Given the description of an element on the screen output the (x, y) to click on. 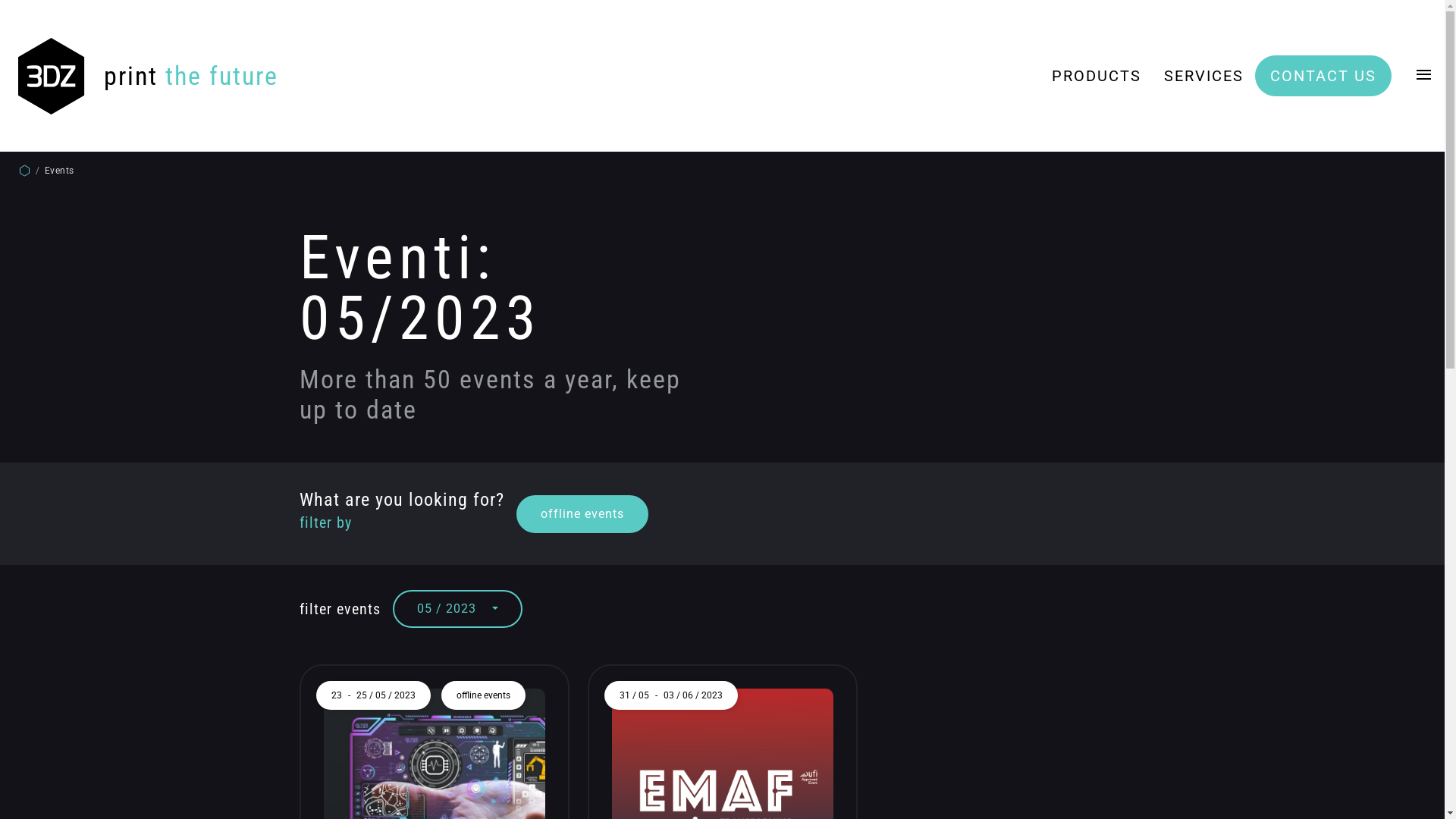
Homepage Element type: hover (24, 170)
SERVICES Element type: text (1203, 75)
05 / 2023 Element type: text (457, 608)
offline events Element type: text (581, 513)
print the future Element type: text (148, 75)
CONTACT US Element type: text (1322, 75)
PRODUCTS Element type: text (1096, 75)
